Given the description of an element on the screen output the (x, y) to click on. 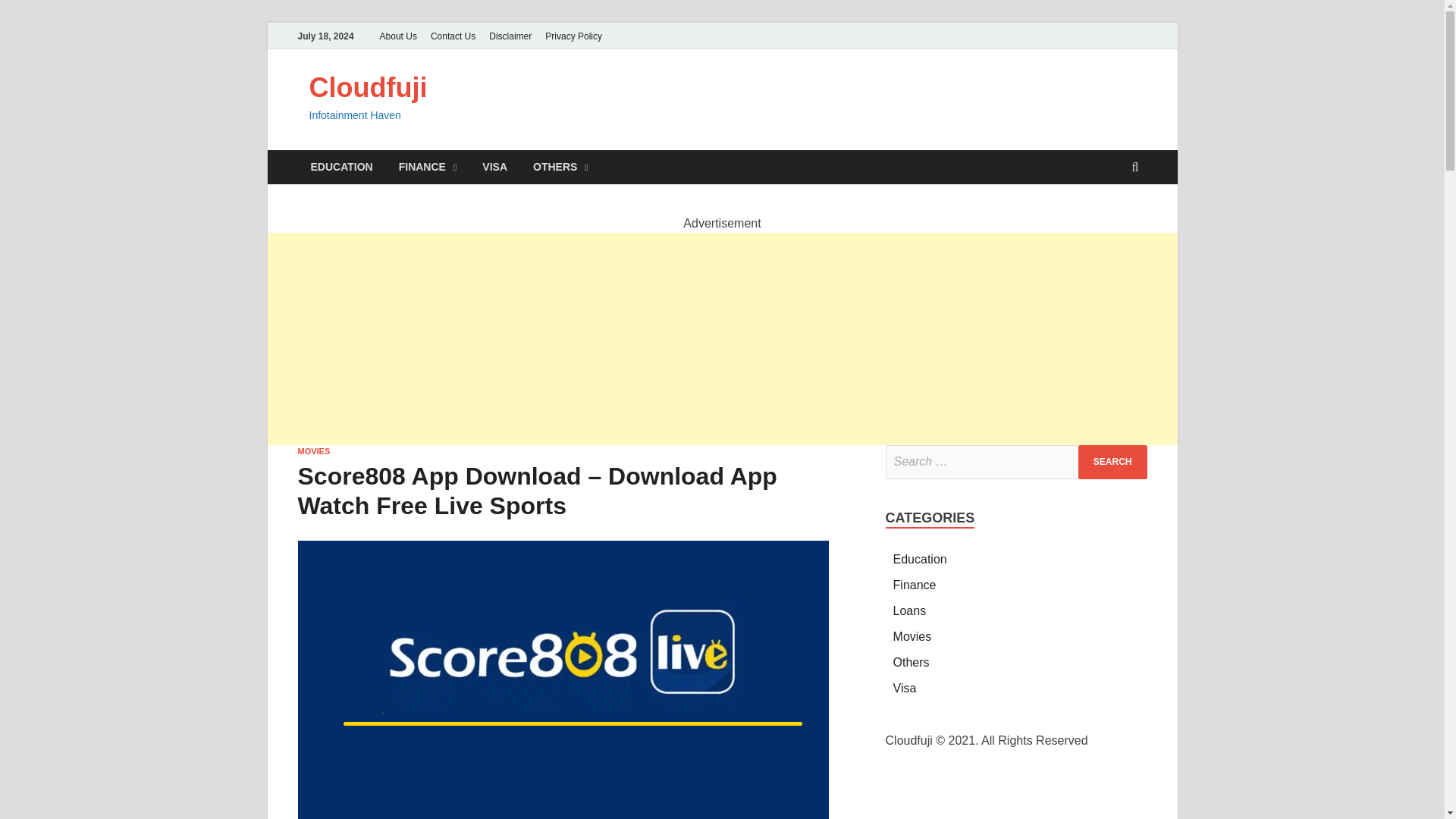
VISA (493, 166)
Cloudfuji (368, 87)
Search (1112, 462)
Privacy Policy (573, 35)
FINANCE (427, 166)
Contact Us (452, 35)
About Us (397, 35)
EDUCATION (341, 166)
OTHERS (560, 166)
MOVIES (313, 450)
Disclaimer (509, 35)
Search (1112, 462)
